Given the description of an element on the screen output the (x, y) to click on. 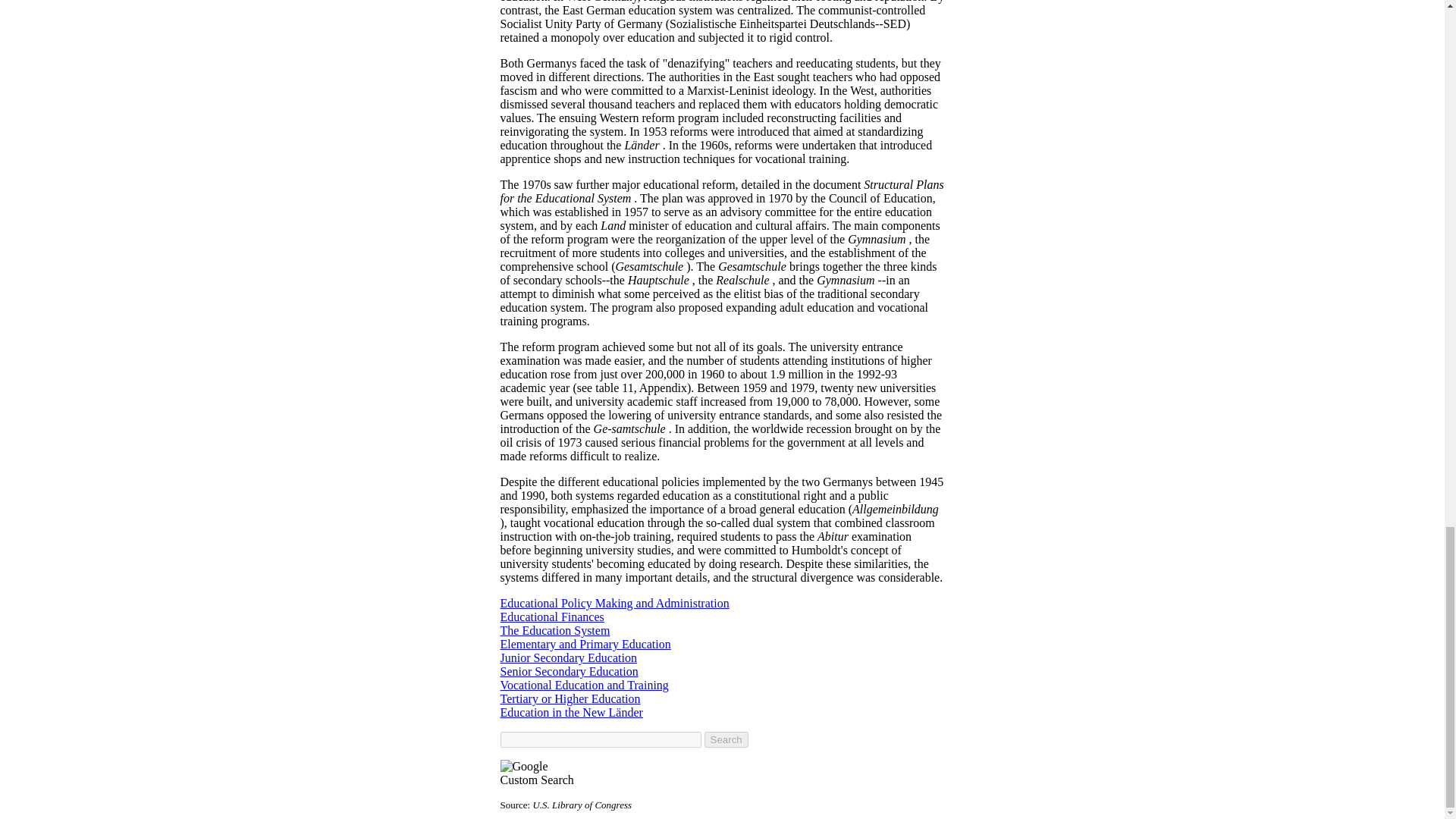
Educational Policy Making and Administration (614, 603)
Vocational Education and Training (584, 684)
Junior Secondary Education (568, 657)
Tertiary or Higher Education (570, 698)
Educational Finances (552, 616)
Search (725, 739)
Elementary and Primary Education (585, 644)
The Education System (555, 630)
Senior Secondary Education (569, 671)
Search (725, 739)
